Given the description of an element on the screen output the (x, y) to click on. 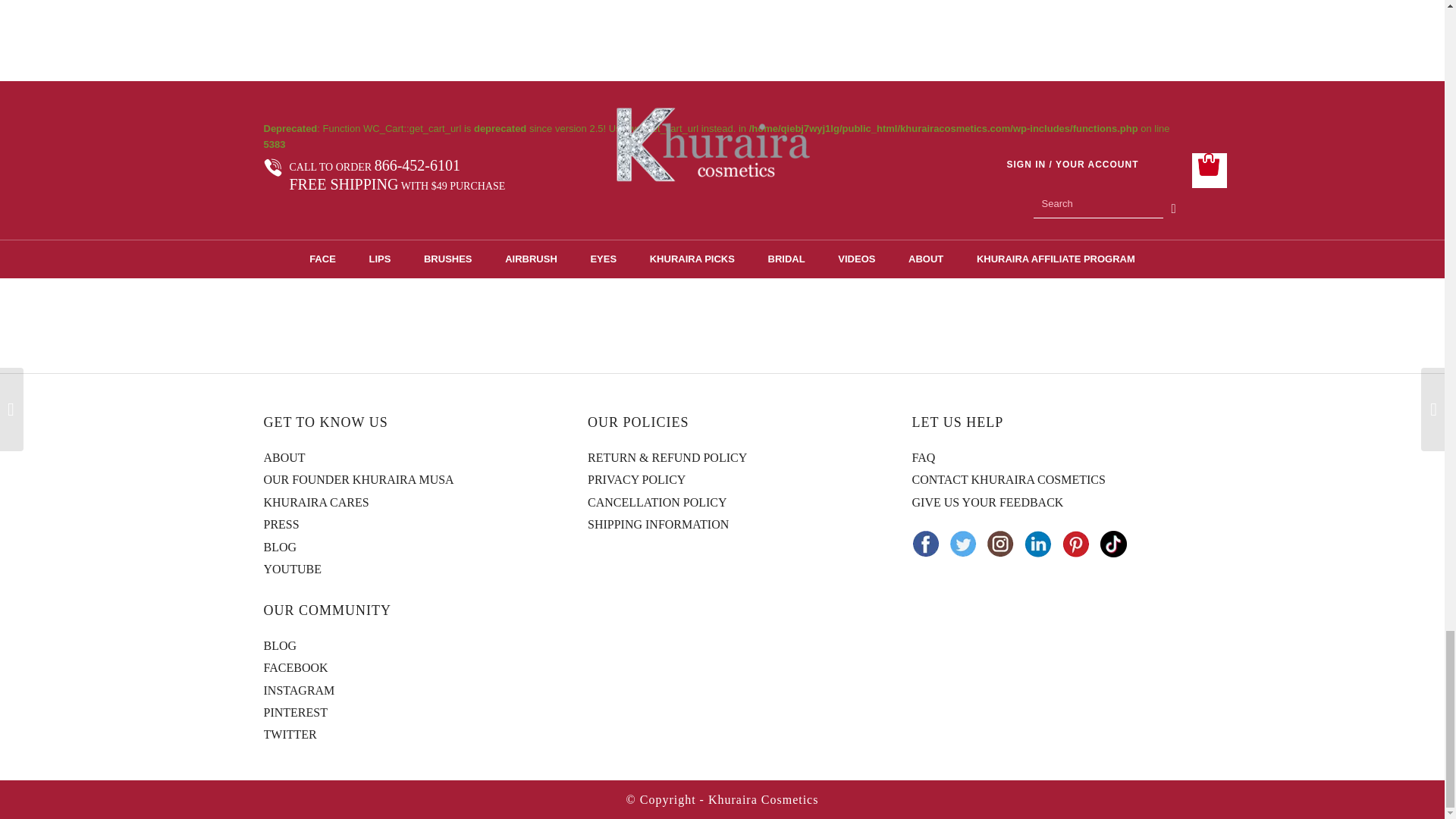
About (284, 457)
Our Founder Khuraira Musa (358, 479)
Khuraira Cares (316, 502)
